Given the description of an element on the screen output the (x, y) to click on. 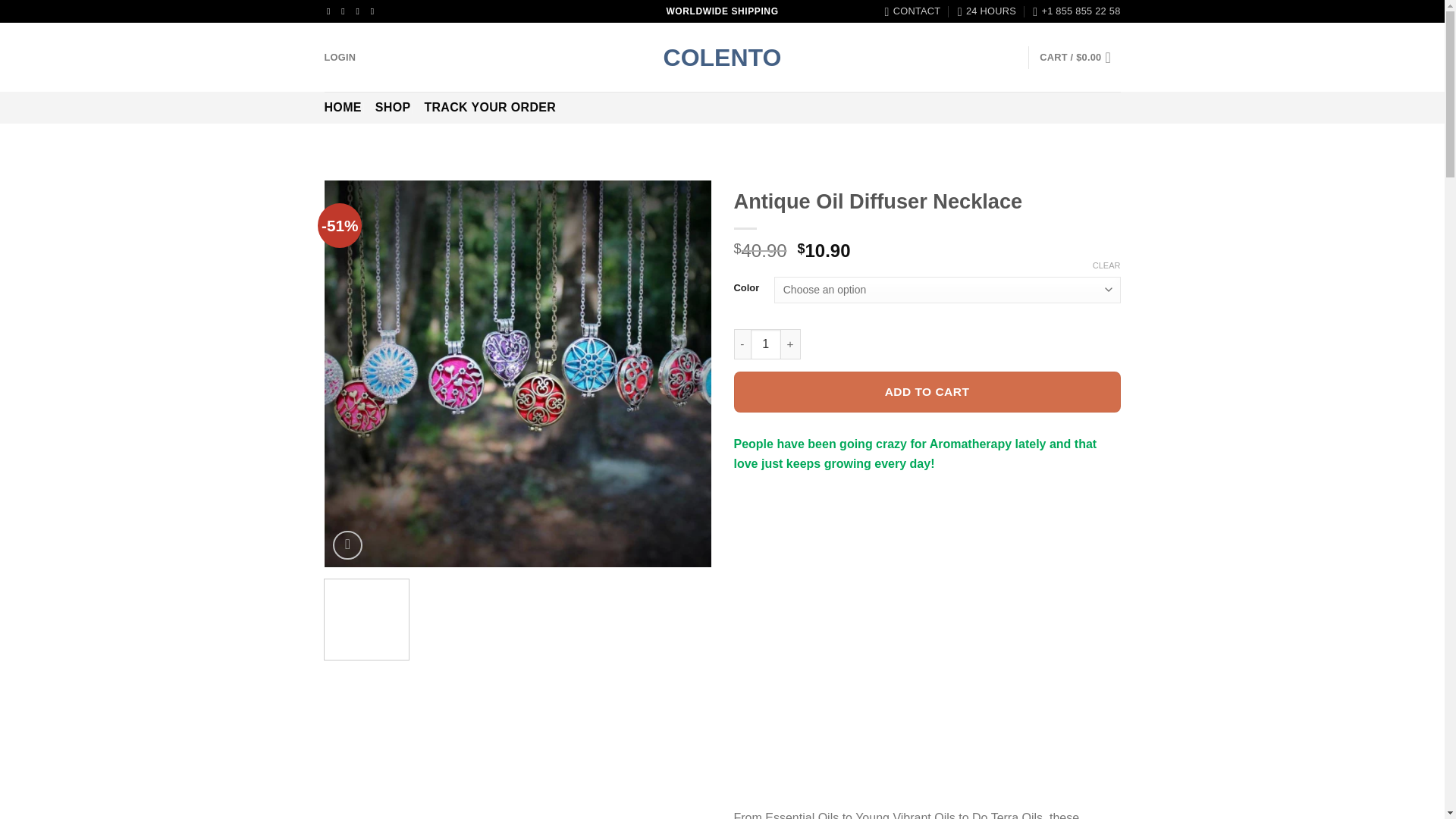
HOME (342, 107)
1 (765, 344)
Colento - Smart Shop Center (721, 57)
24 HOURS (987, 11)
Zoom (347, 545)
CONTACT (912, 11)
SHOP (392, 107)
24 Hours  (987, 11)
TRACK YOUR ORDER (489, 107)
LOGIN (340, 57)
